Given the description of an element on the screen output the (x, y) to click on. 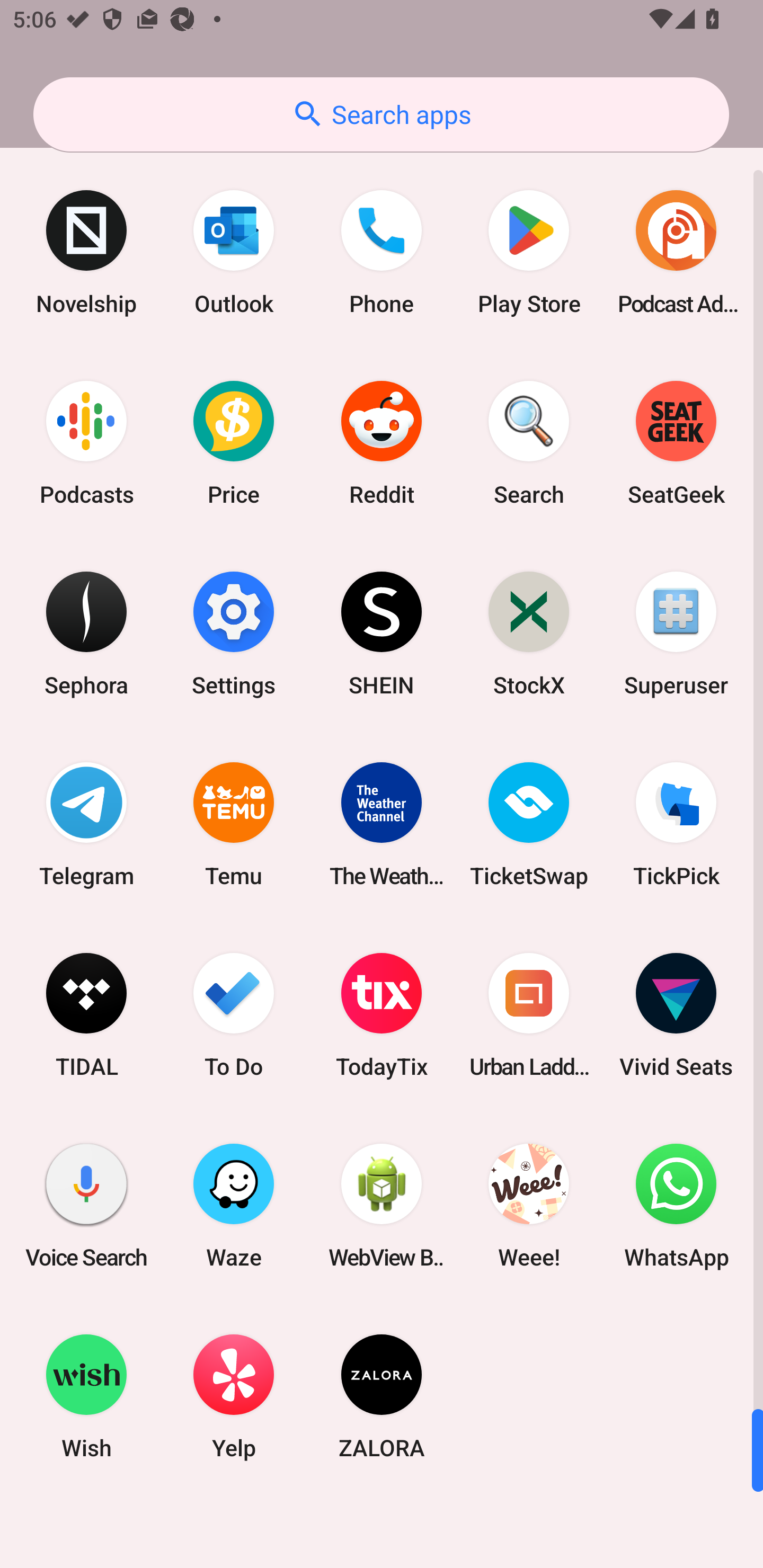
Yelp (233, 1396)
